Given the description of an element on the screen output the (x, y) to click on. 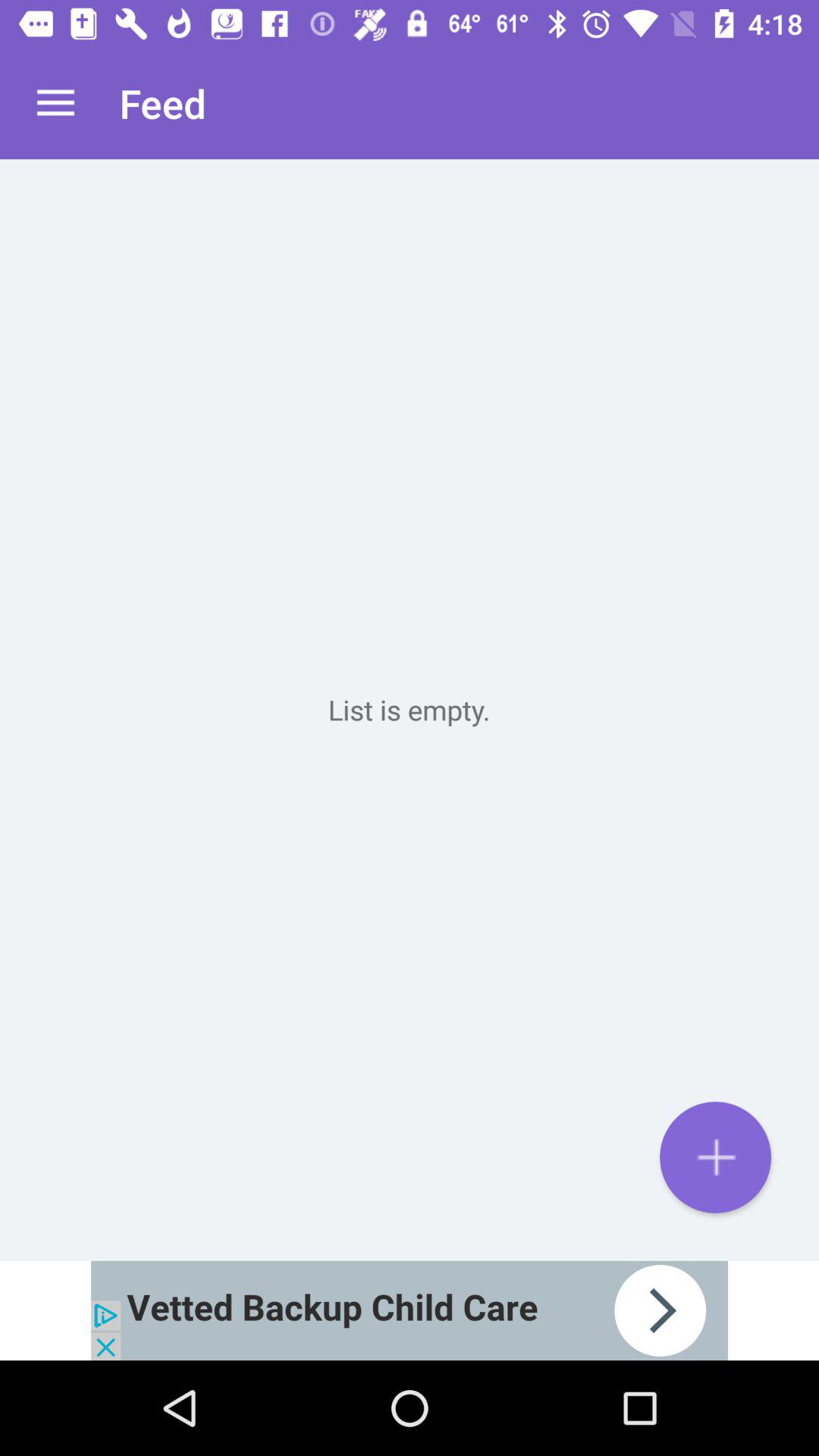
open app (409, 1310)
